Given the description of an element on the screen output the (x, y) to click on. 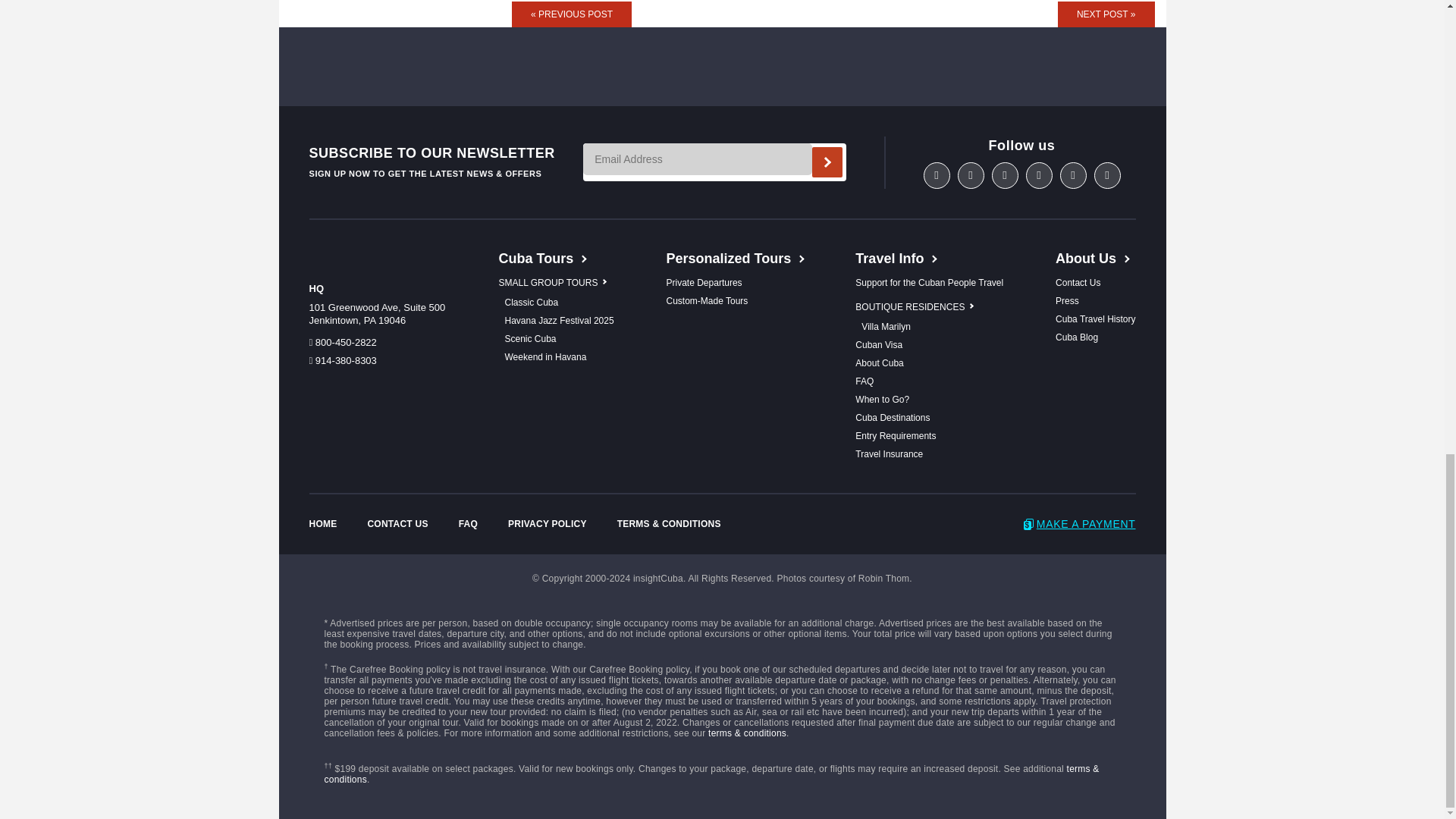
Cuba Travel History (1095, 318)
